Given the description of an element on the screen output the (x, y) to click on. 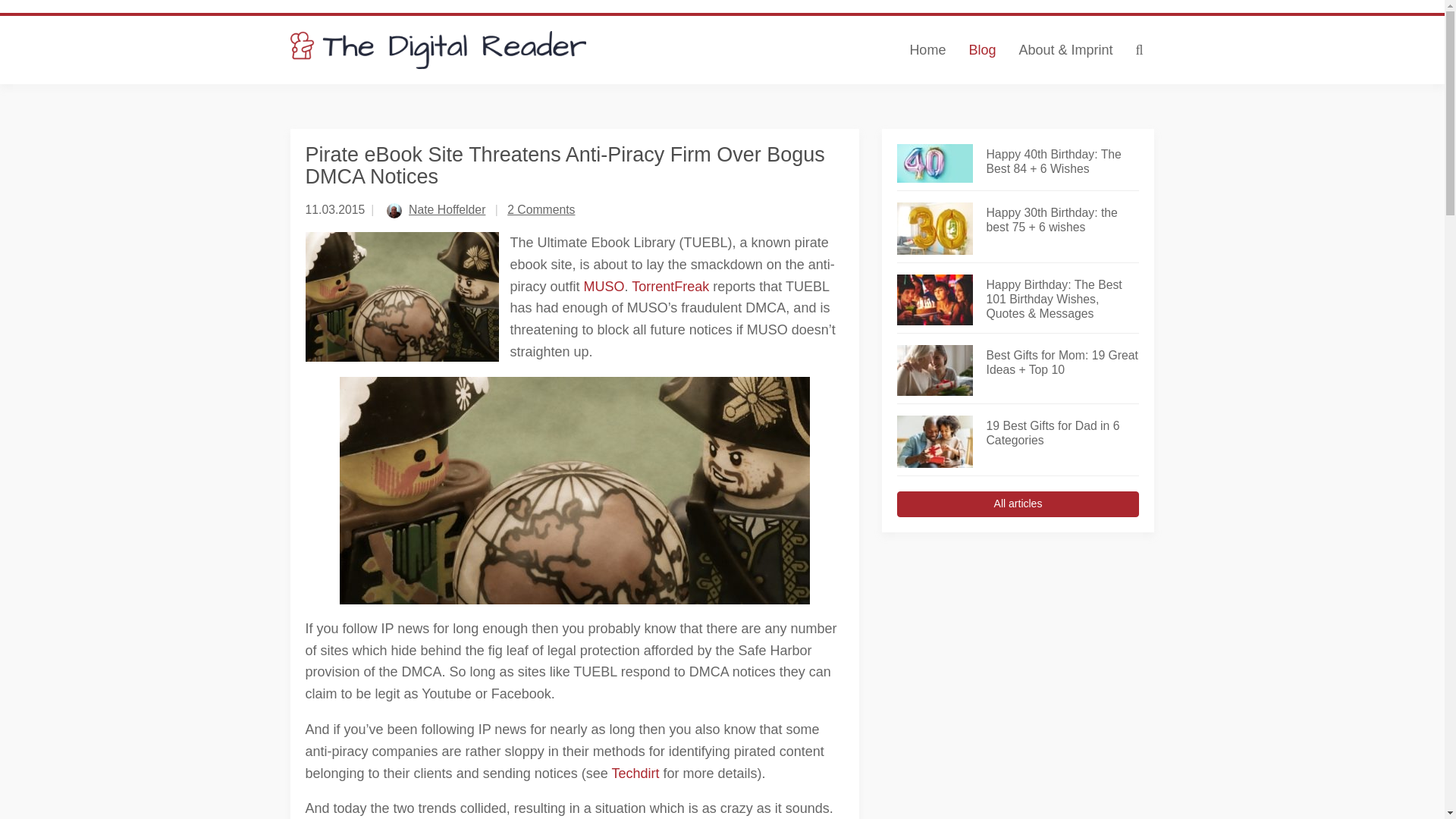
The Digital Reader (437, 49)
TorrentFreak (670, 286)
Techdirt (636, 773)
2 Comments (540, 209)
Home (927, 49)
Blog (981, 49)
MUSO (603, 286)
Nate Hoffelder (446, 209)
